Given the description of an element on the screen output the (x, y) to click on. 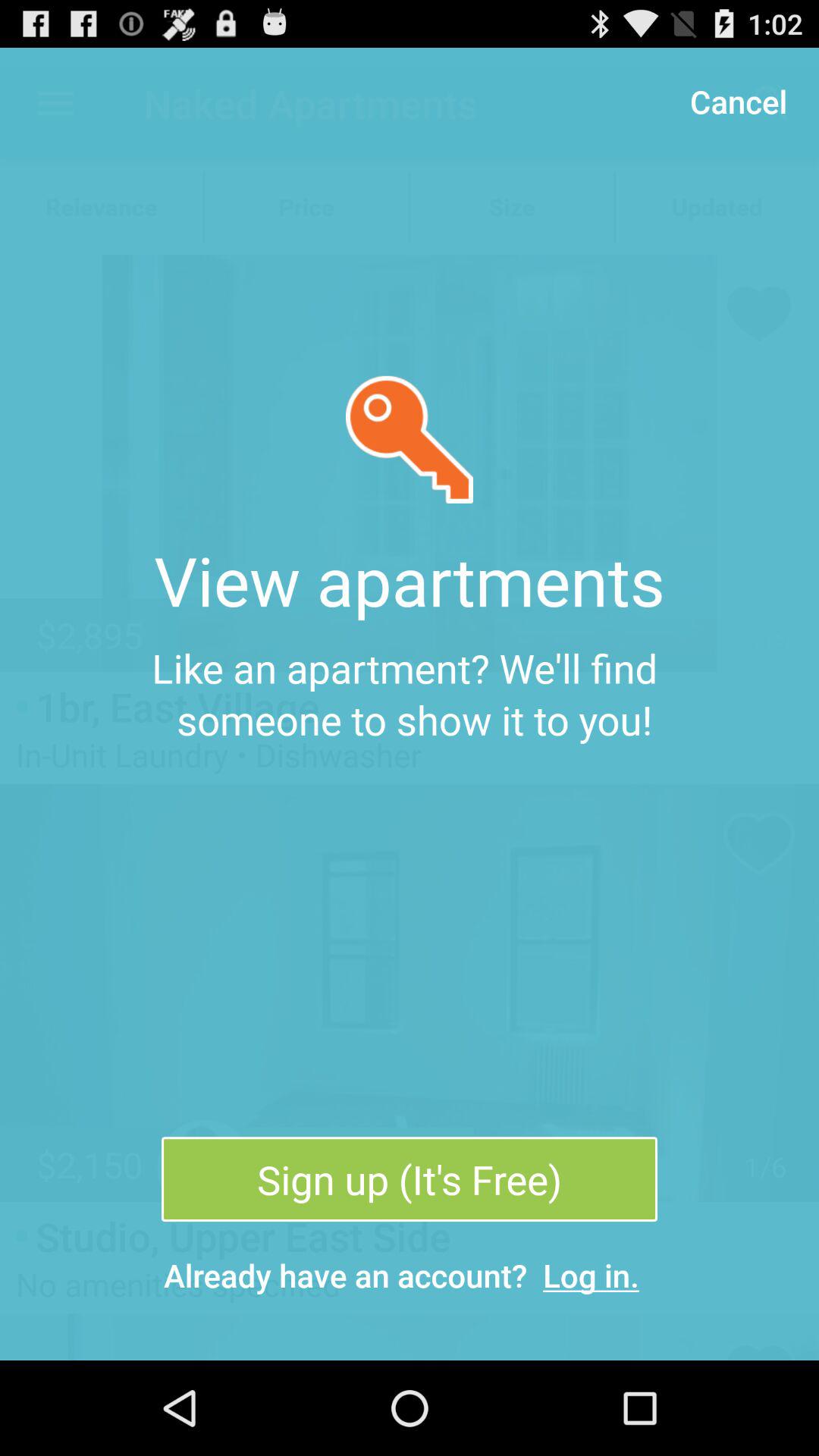
choose icon at the top right corner (738, 100)
